Given the description of an element on the screen output the (x, y) to click on. 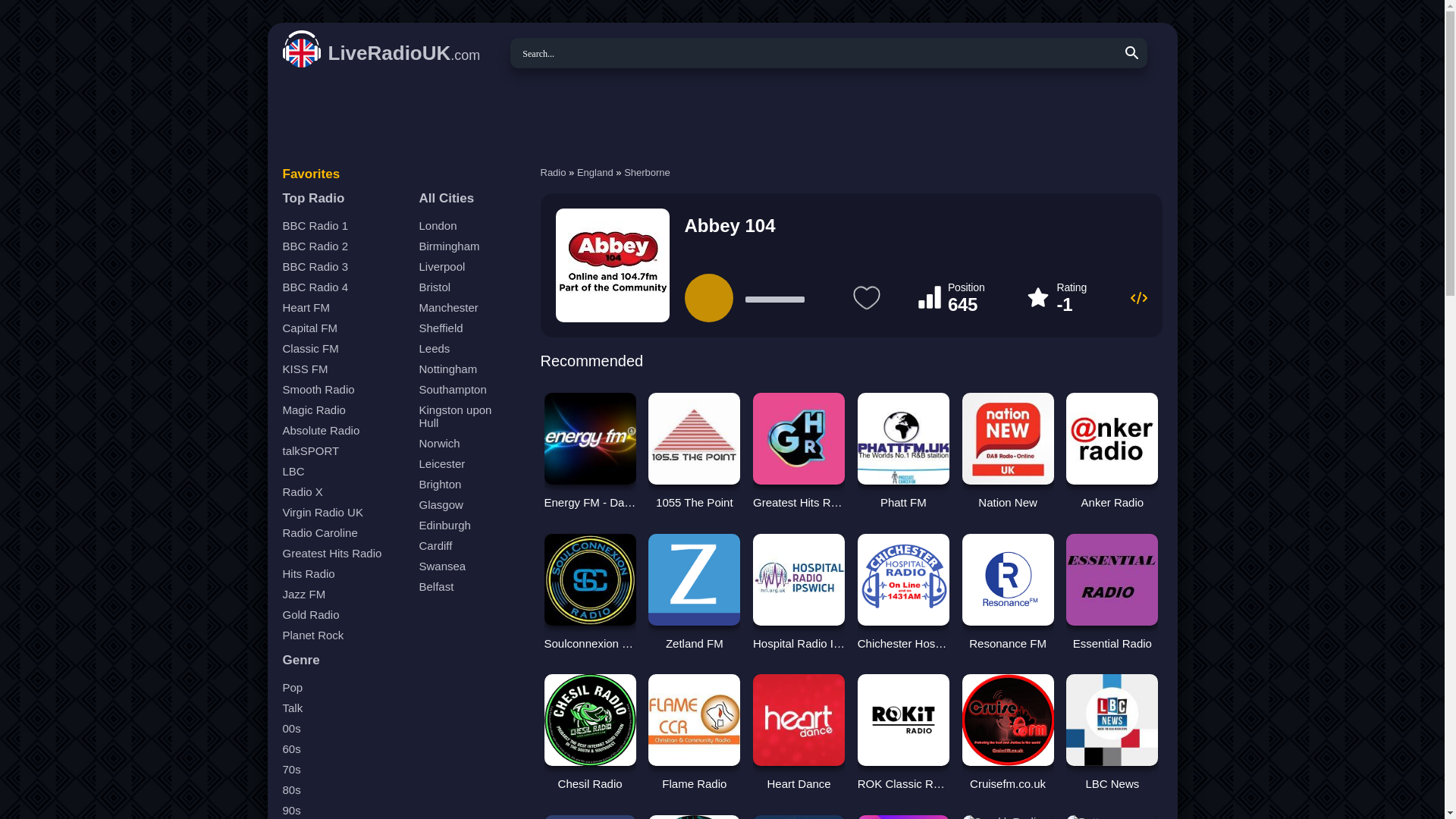
Jazz FM (344, 593)
Leicester (464, 463)
KISS FM (344, 368)
Radio Caroline (344, 532)
Brighton (464, 484)
talkSPORT (344, 450)
Sheffield (464, 327)
Radio X (344, 491)
Advertisement (721, 117)
Absolute Radio (344, 430)
Greatest Hits Radio (344, 552)
BBC Radio 1 (344, 225)
Liverpool (464, 266)
Southampton (464, 389)
London (464, 225)
